Given the description of an element on the screen output the (x, y) to click on. 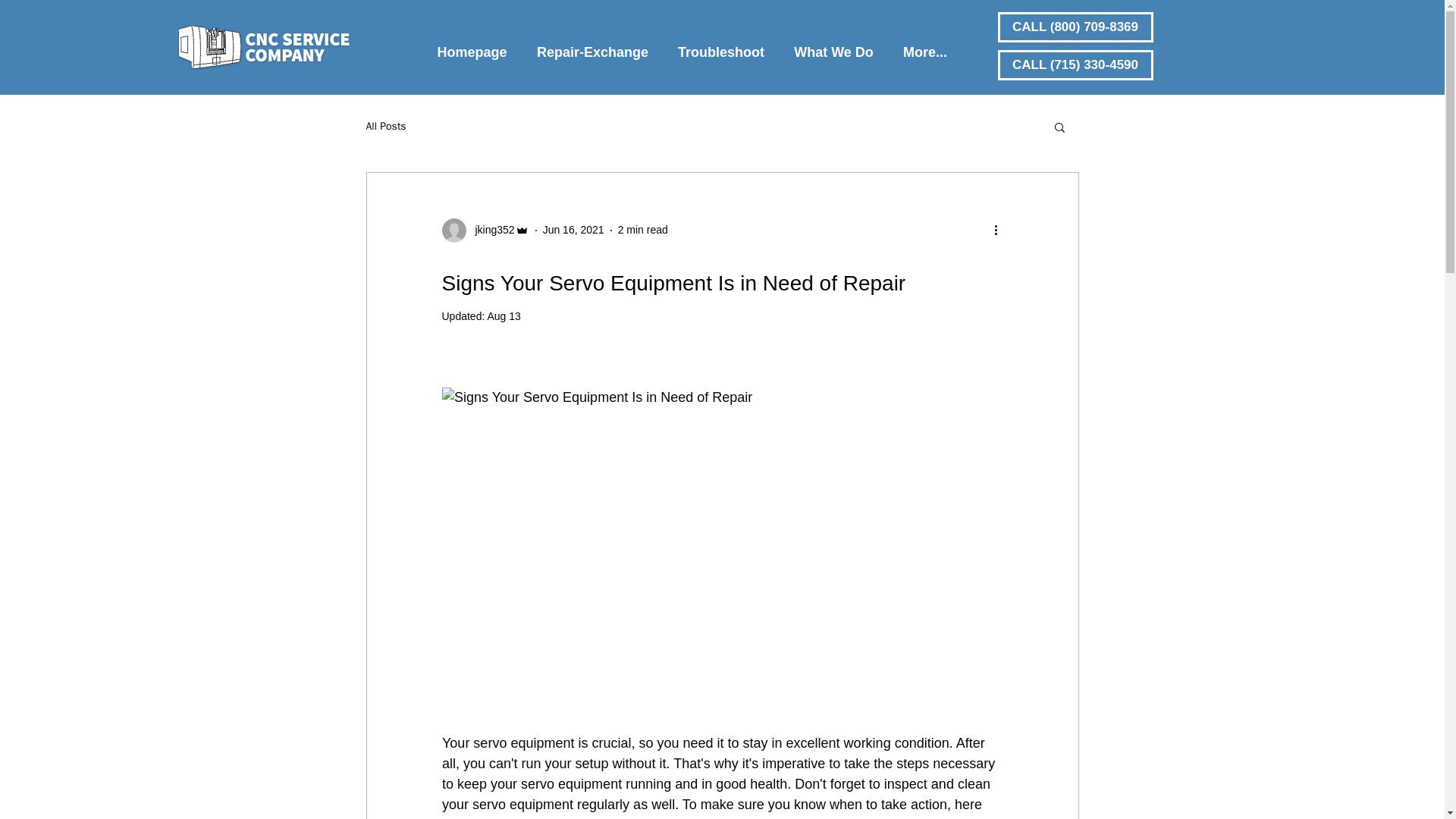
Aug 13 (502, 316)
jking352 (489, 229)
jking352 (484, 230)
2 min read (642, 229)
All Posts (385, 126)
Repair-Exchange (591, 45)
Homepage (471, 45)
What We Do (833, 45)
Troubleshoot (720, 45)
Jun 16, 2021 (573, 229)
